Given the description of an element on the screen output the (x, y) to click on. 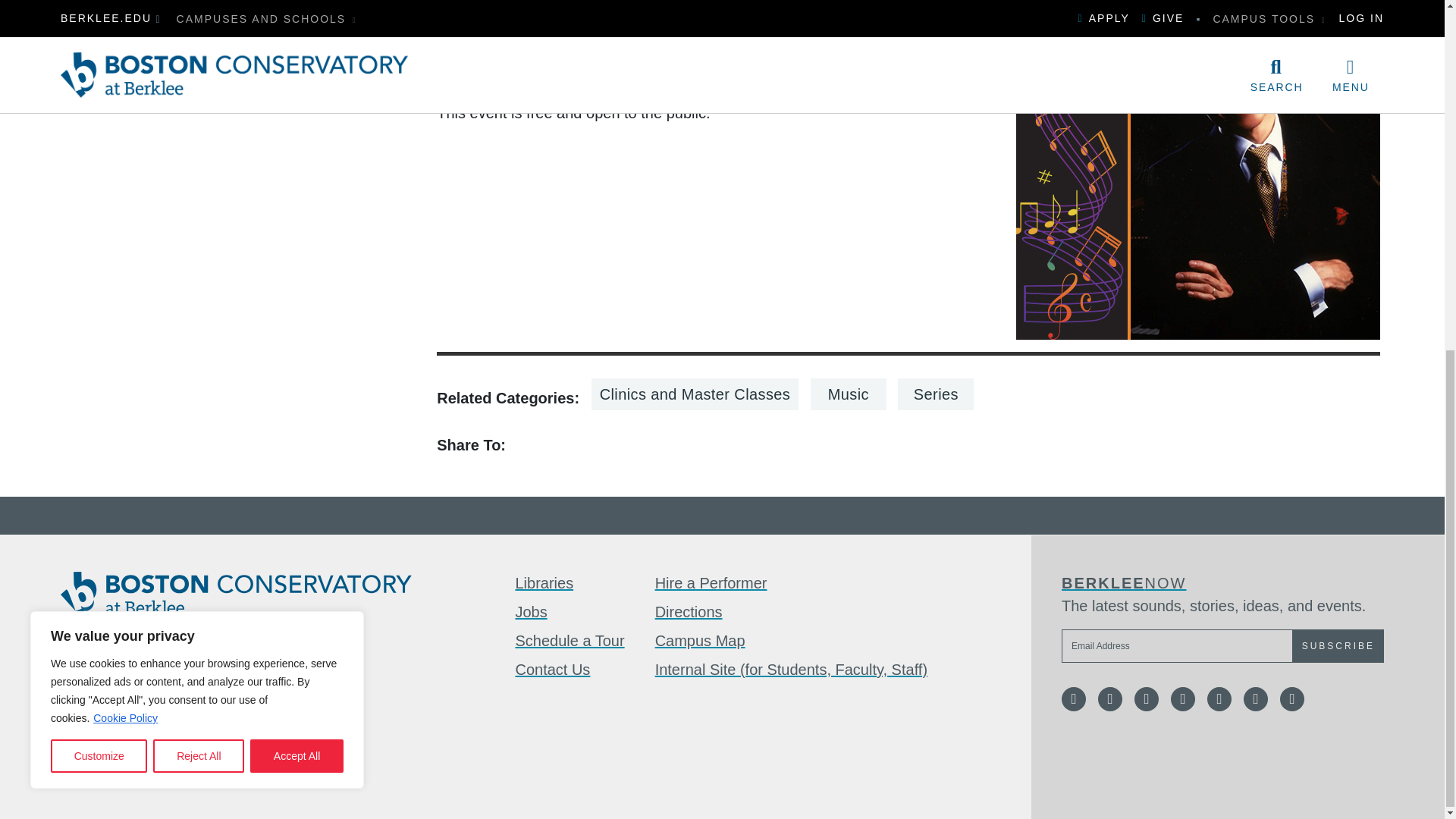
Accept All (296, 145)
Cookie Policy (125, 108)
Customize (98, 145)
Subscribe (1338, 645)
Reject All (198, 145)
